Given the description of an element on the screen output the (x, y) to click on. 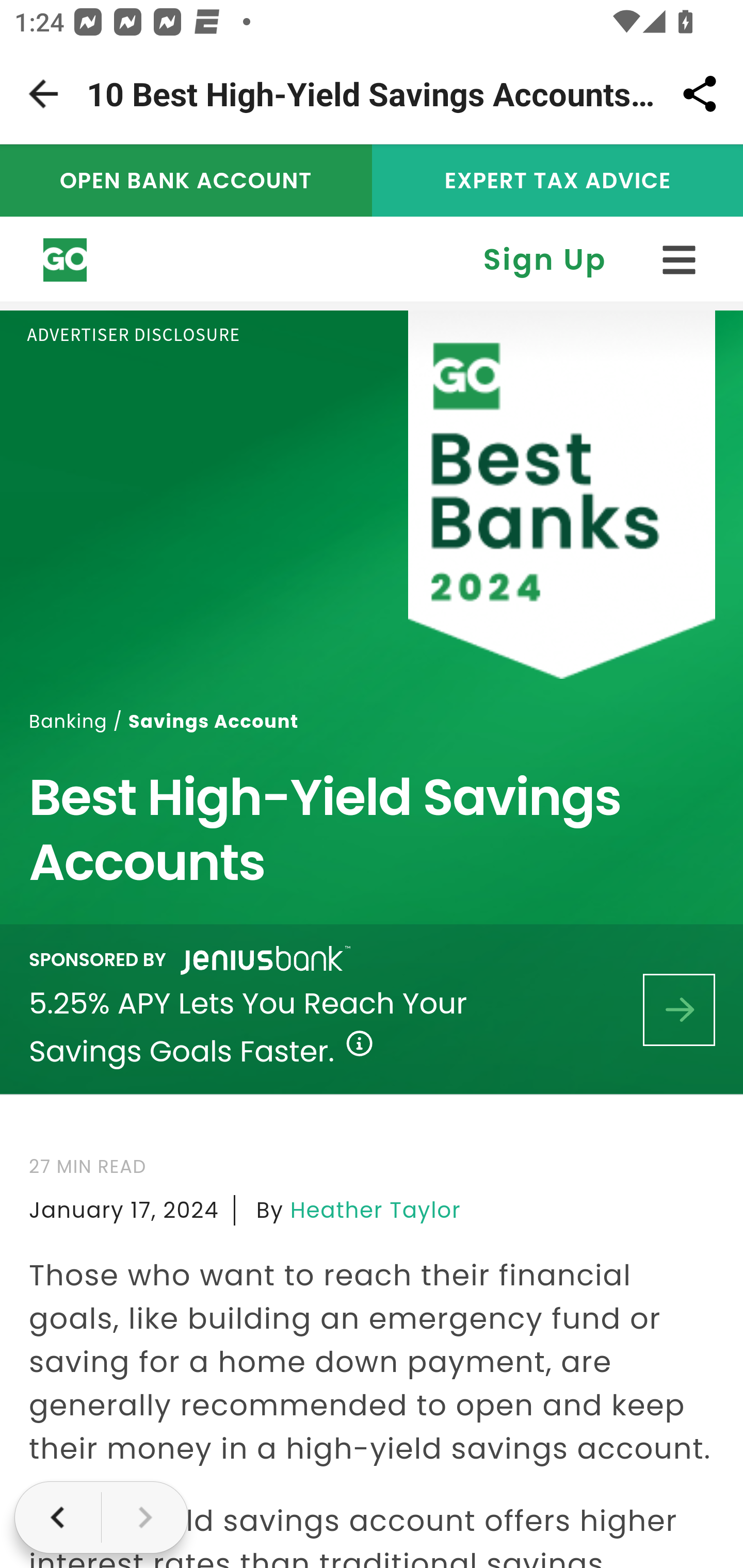
OPEN BANK ACCOUNT (186, 180)
EXPERT TAX ADVICE (557, 180)
Sign Up (544, 259)
www.gobankingrates (65, 260)
ADVERTISER DISCLOSURE (133, 334)
Banking (68, 720)
Savings Account (213, 720)
circle-info (359, 1044)
Heather Taylor (375, 1210)
